Given the description of an element on the screen output the (x, y) to click on. 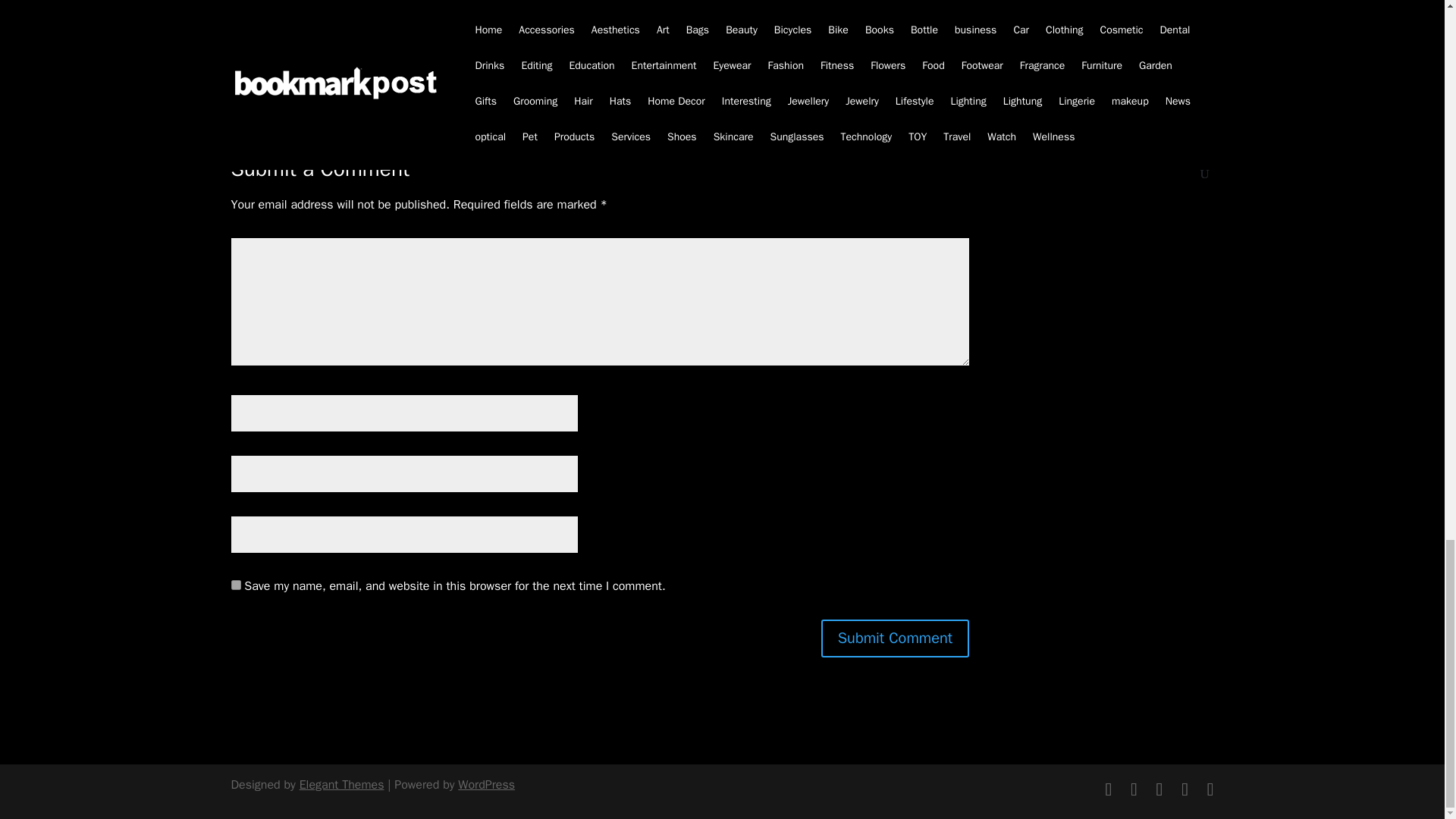
Premium WordPress Themes (341, 784)
yes (235, 584)
Submit Comment (895, 638)
